Given the description of an element on the screen output the (x, y) to click on. 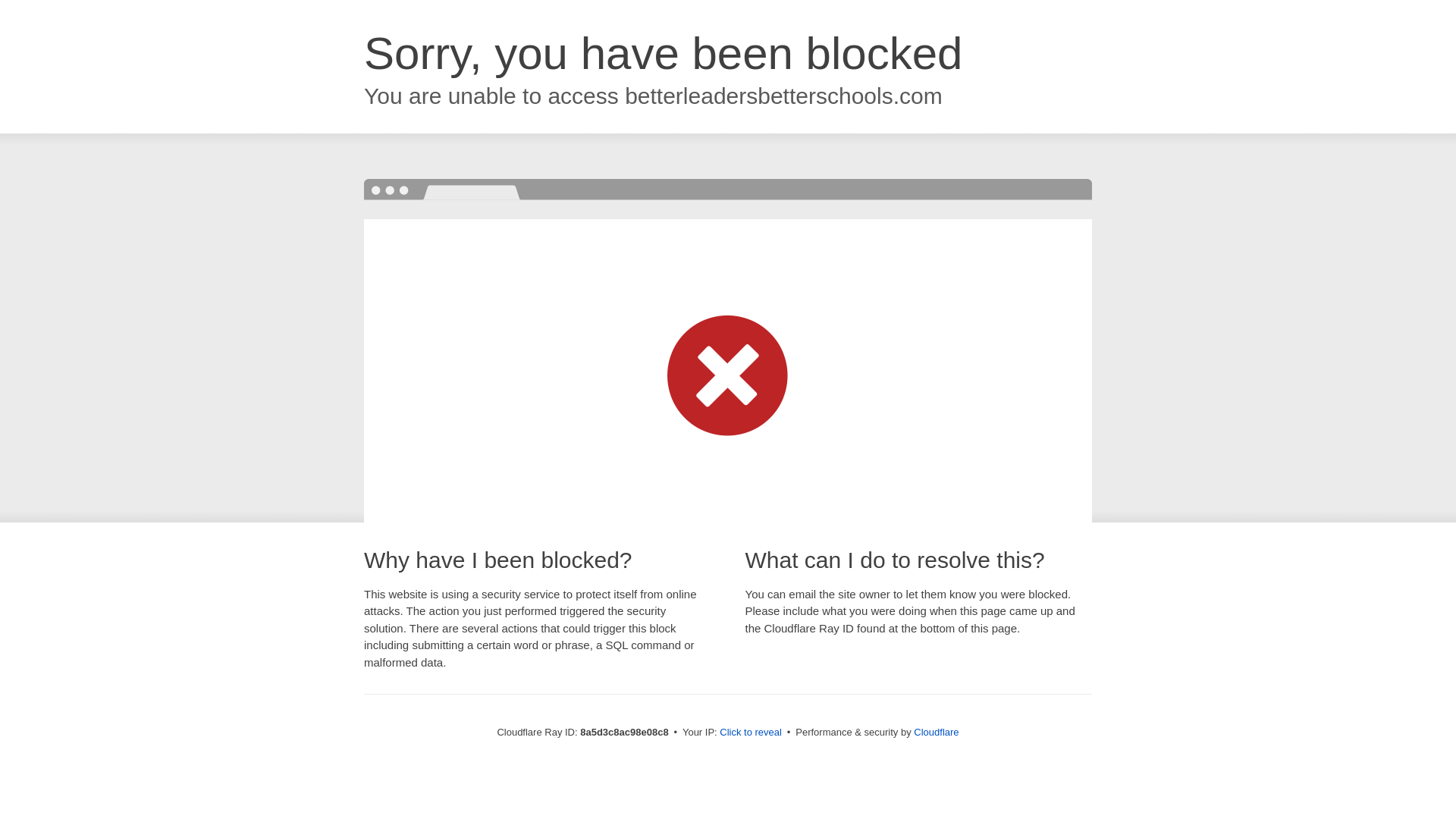
Cloudflare (936, 731)
Click to reveal (750, 732)
